Given the description of an element on the screen output the (x, y) to click on. 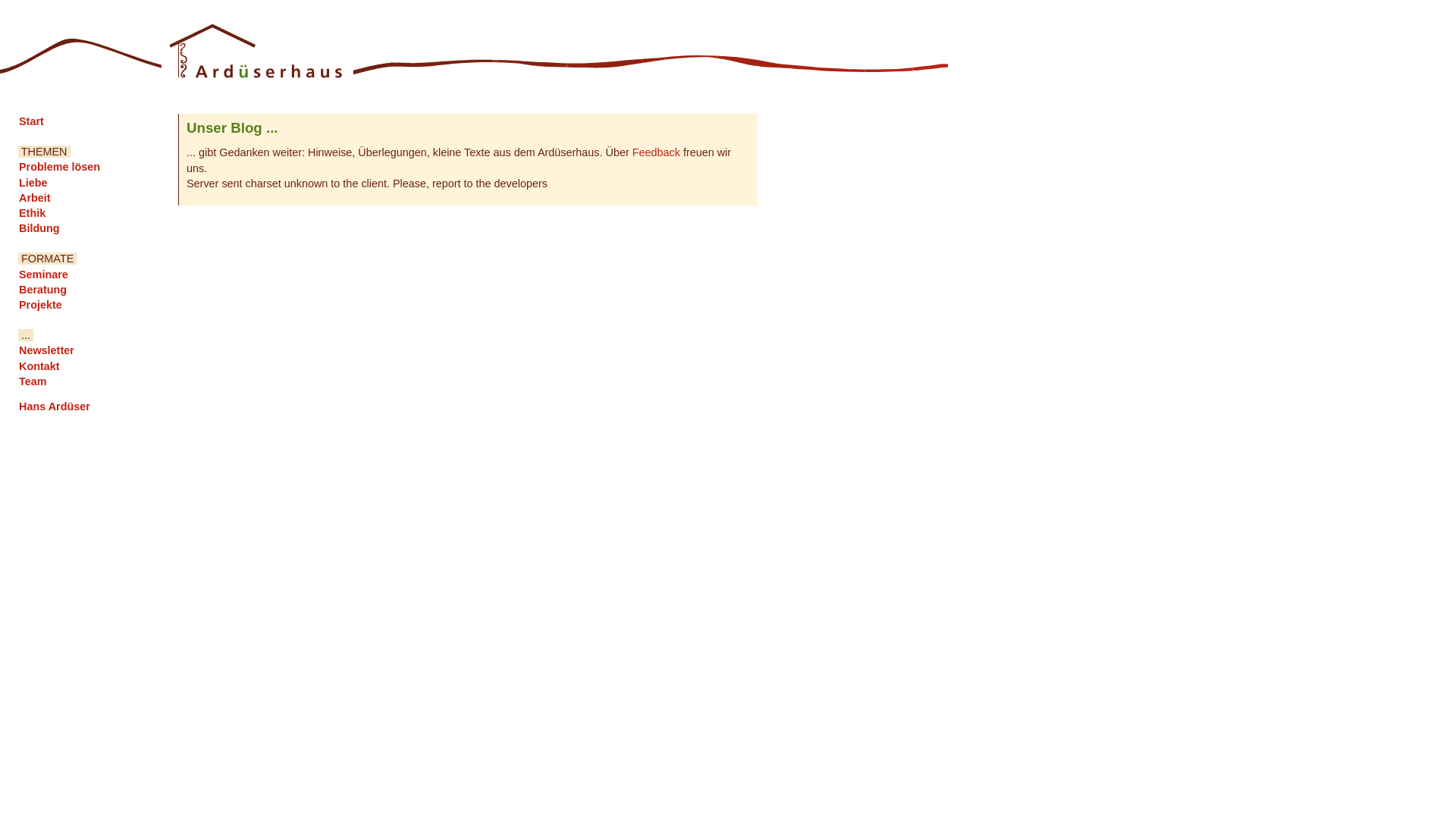
Team Element type: text (32, 381)
Start Element type: text (31, 121)
Ethik Element type: text (32, 212)
Feedback Element type: text (656, 152)
Projekte Element type: text (40, 304)
Kontakt Element type: text (39, 366)
Beratung Element type: text (42, 289)
Newsletter Element type: text (46, 350)
Arbeit Element type: text (34, 197)
Liebe Element type: text (33, 182)
Bildung Element type: text (39, 228)
Seminare Element type: text (43, 274)
